Given the description of an element on the screen output the (x, y) to click on. 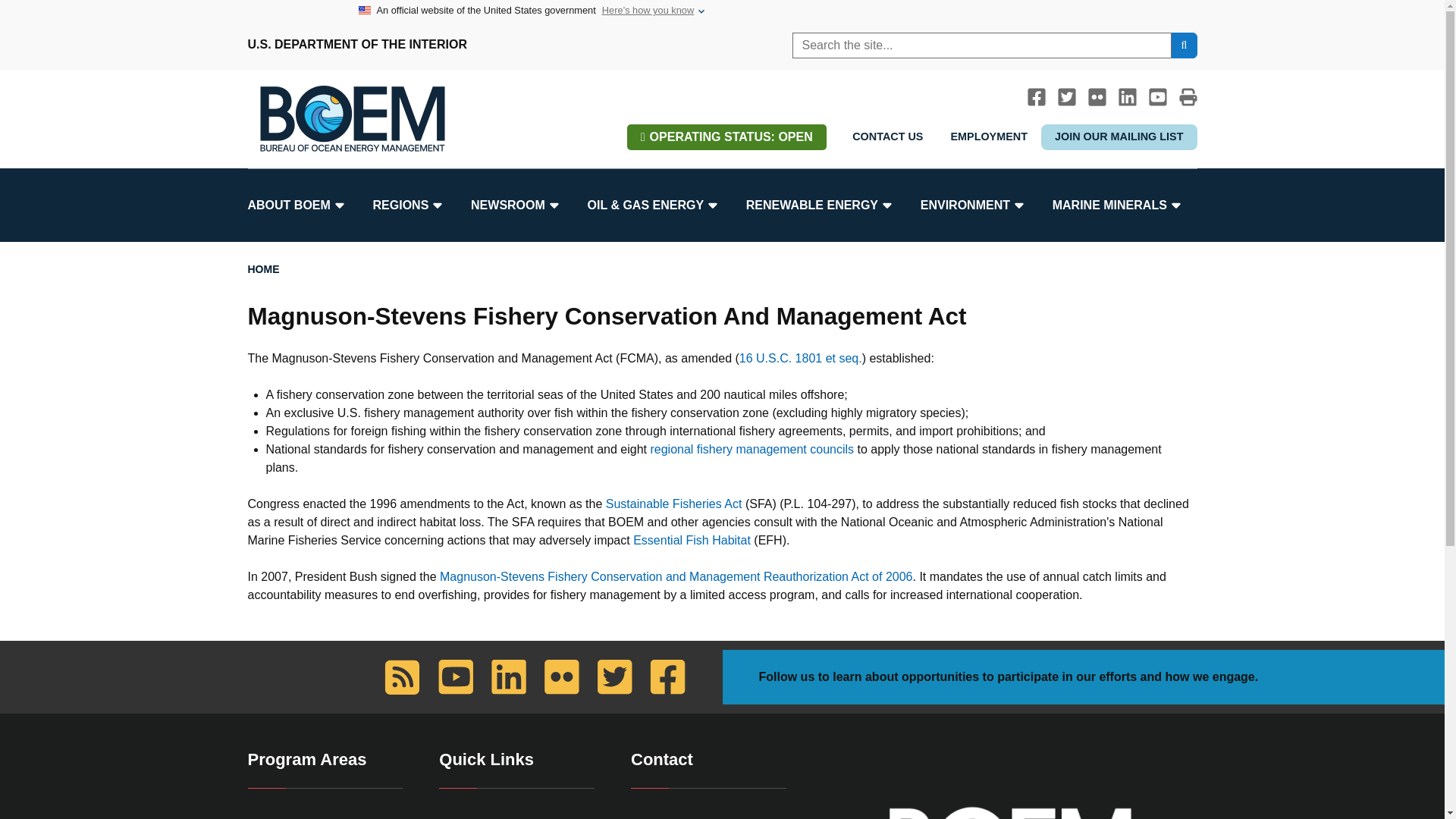
CONTACT US (887, 136)
Search (1183, 45)
Twitter (1066, 96)
Footer Logo (1009, 807)
regional fishery management councils (751, 449)
BOEM Facebook page (1035, 96)
JOIN OUR MAILING LIST (1118, 136)
Youtube (1157, 96)
BOEM LinkedIn (1126, 96)
BOEM Flickr Account (1096, 96)
ABOUT BOEM (301, 205)
Essential Fish Habitat (692, 540)
Print this Page (1186, 96)
Print (1186, 96)
